Given the description of an element on the screen output the (x, y) to click on. 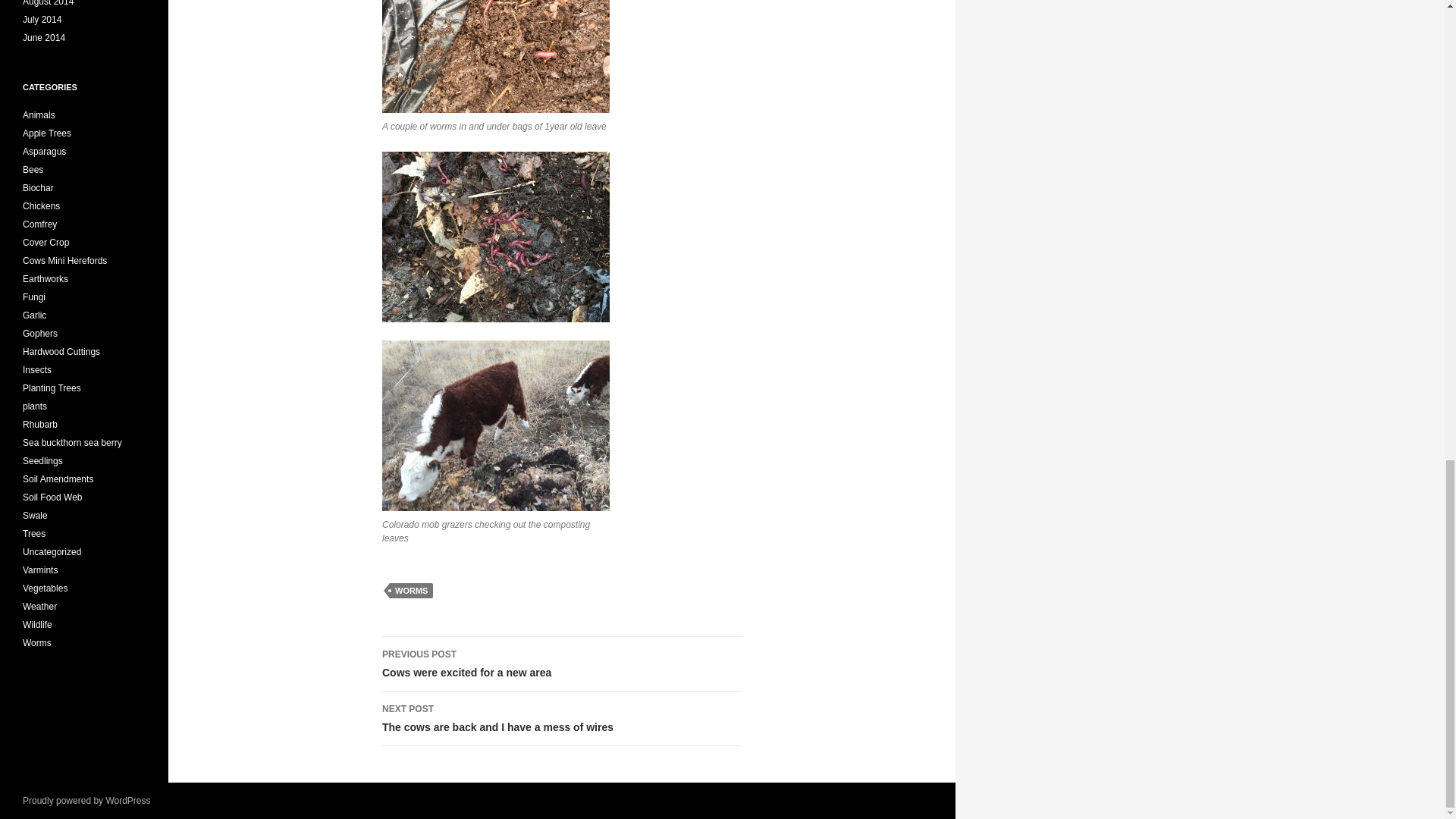
WORMS (411, 590)
